Given the description of an element on the screen output the (x, y) to click on. 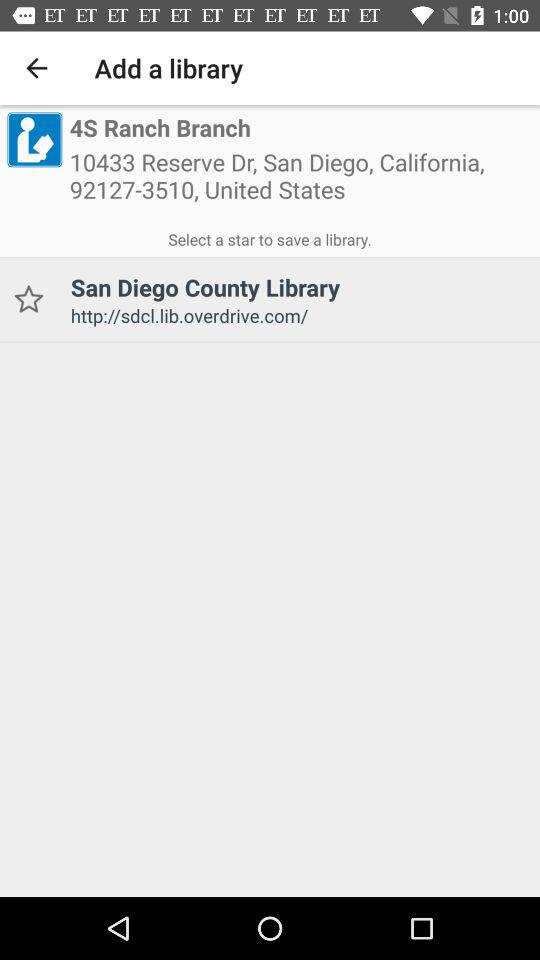
press item below the 10433 reserve dr item (269, 236)
